Given the description of an element on the screen output the (x, y) to click on. 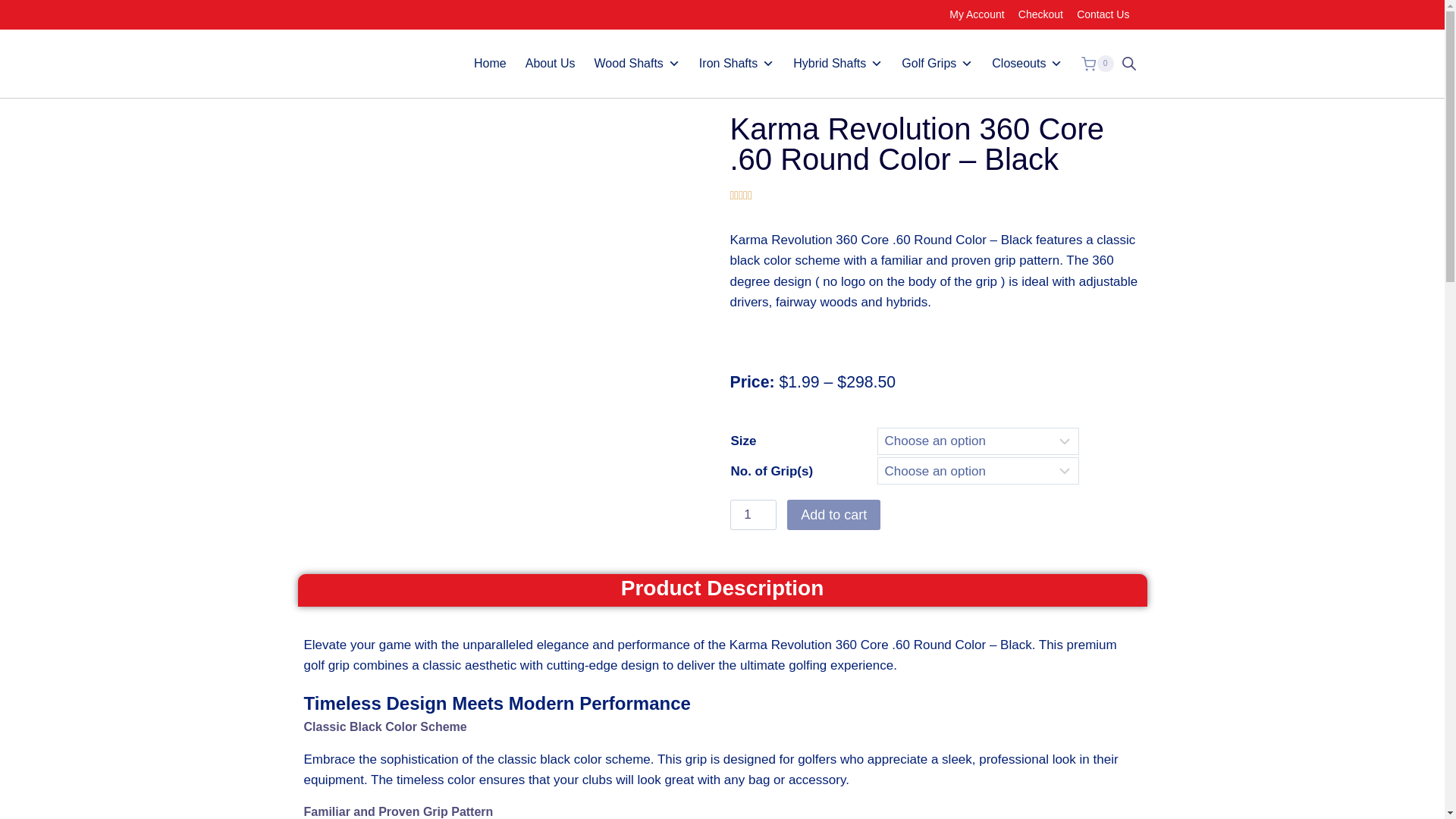
Closeouts (1027, 63)
Wood Shafts (636, 63)
1 (752, 514)
0 (1097, 63)
Iron Shafts (736, 63)
Golf Grips (936, 63)
Contact Us (1102, 14)
Hybrid Shafts (837, 63)
Home (489, 63)
About Us (550, 63)
Checkout (1040, 14)
My Account (976, 14)
